Given the description of an element on the screen output the (x, y) to click on. 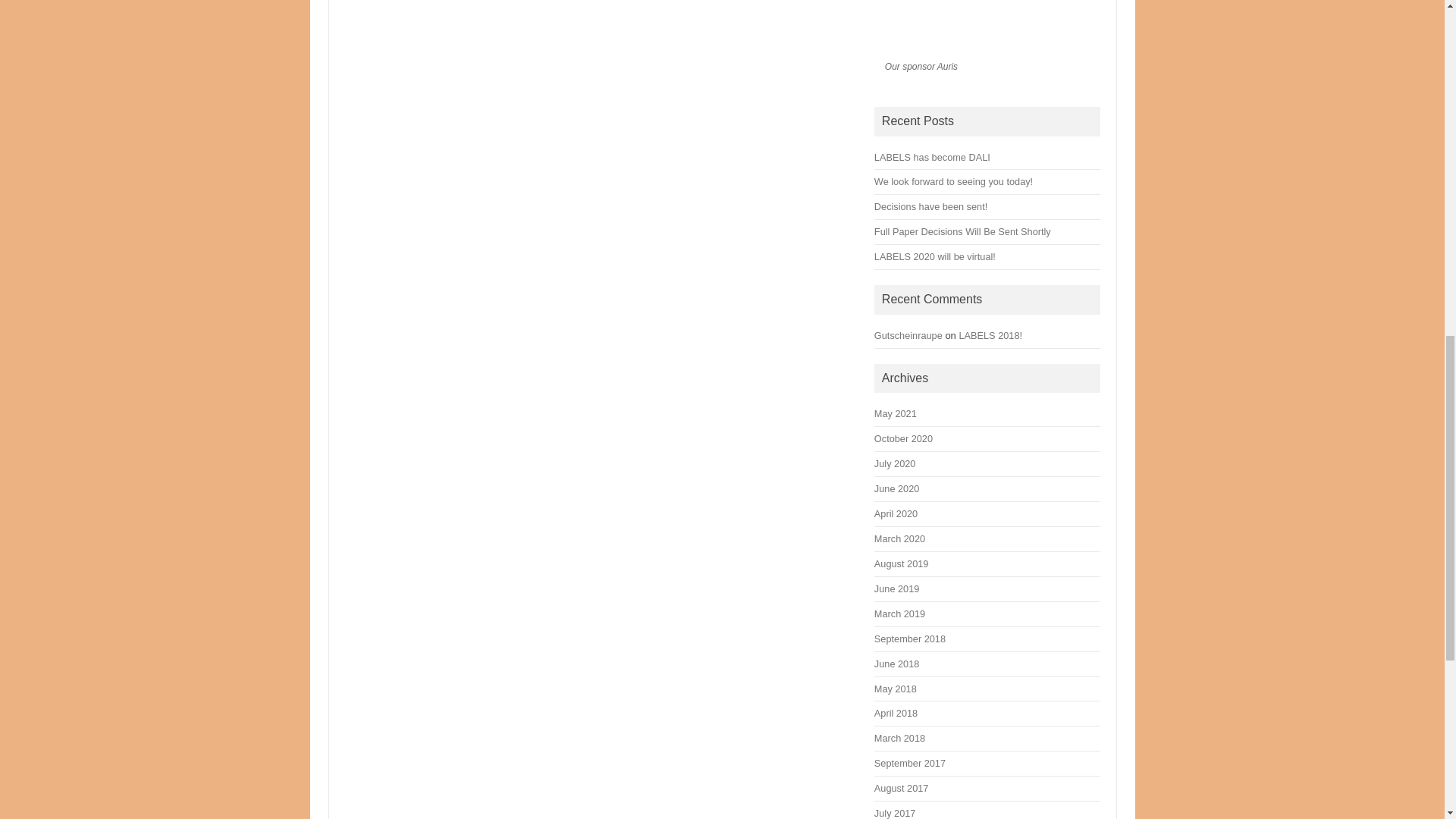
March 2020 (899, 538)
May 2021 (896, 413)
July 2020 (895, 463)
Full Paper Decisions Will Be Sent Shortly (963, 231)
April 2018 (896, 713)
June 2018 (896, 663)
June 2019 (896, 588)
LABELS 2018! (990, 335)
LABELS has become DALI (932, 156)
Decisions have been sent! (931, 206)
August 2019 (901, 563)
Gutscheinraupe (908, 335)
September 2018 (909, 638)
October 2020 (904, 438)
June 2020 (896, 488)
